Given the description of an element on the screen output the (x, y) to click on. 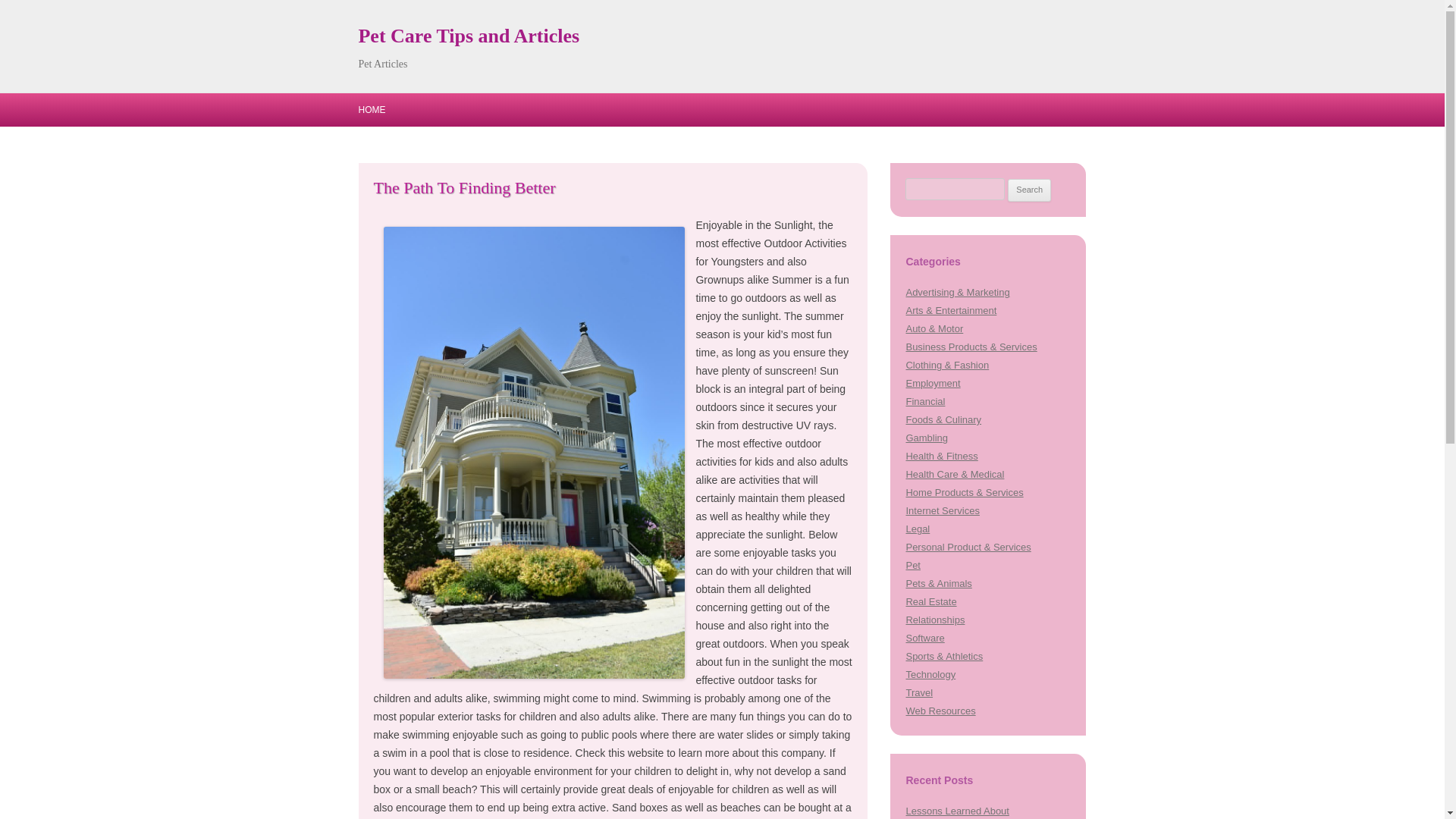
Search (1029, 190)
Financial (924, 401)
Search (1029, 190)
Lessons Learned About (957, 810)
Internet Services (941, 510)
Technology (930, 674)
Gambling (926, 437)
Web Resources (940, 710)
Relationships (934, 619)
